Given the description of an element on the screen output the (x, y) to click on. 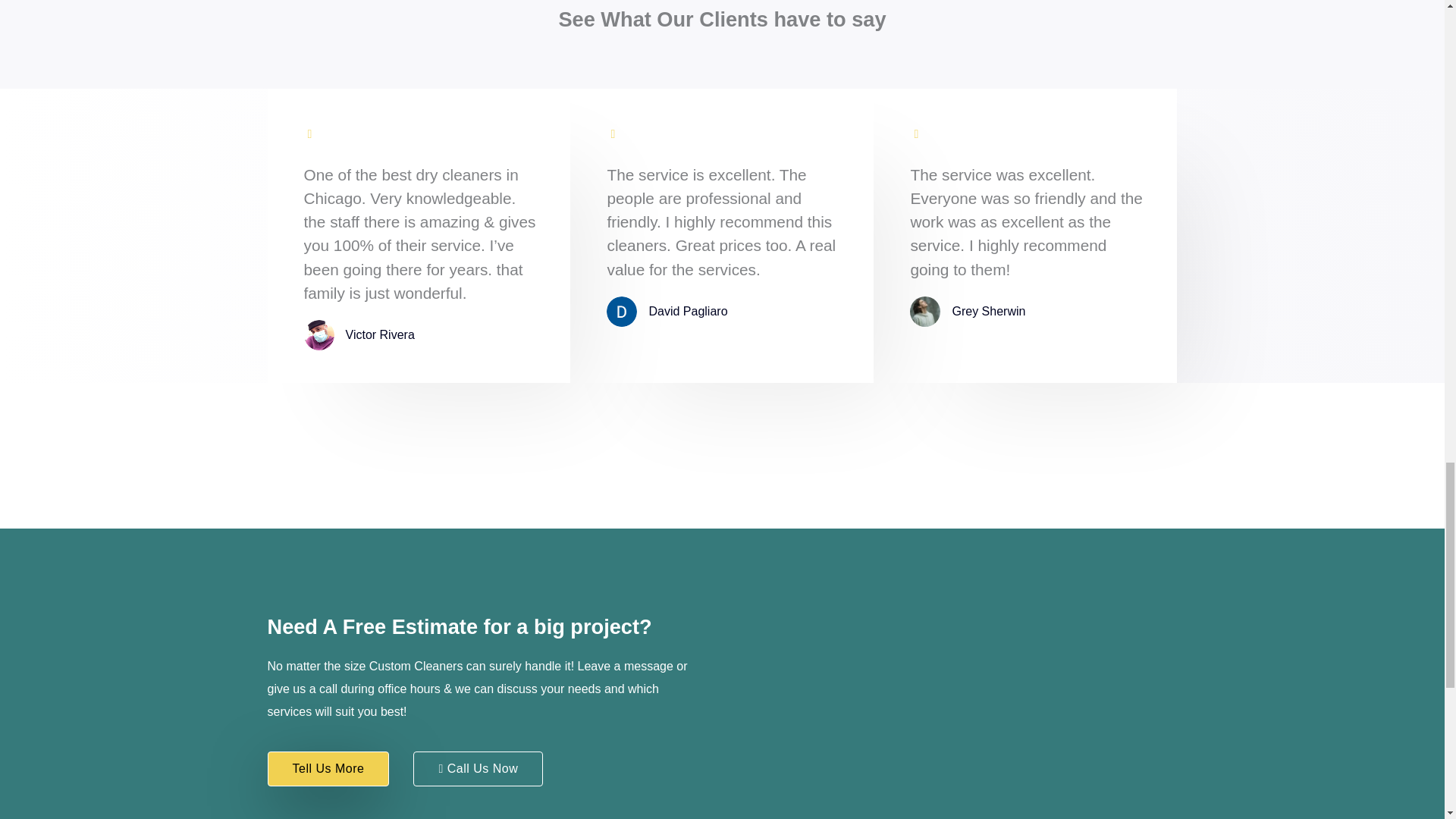
Tell Us More (327, 768)
Call Us Now (478, 768)
